Given the description of an element on the screen output the (x, y) to click on. 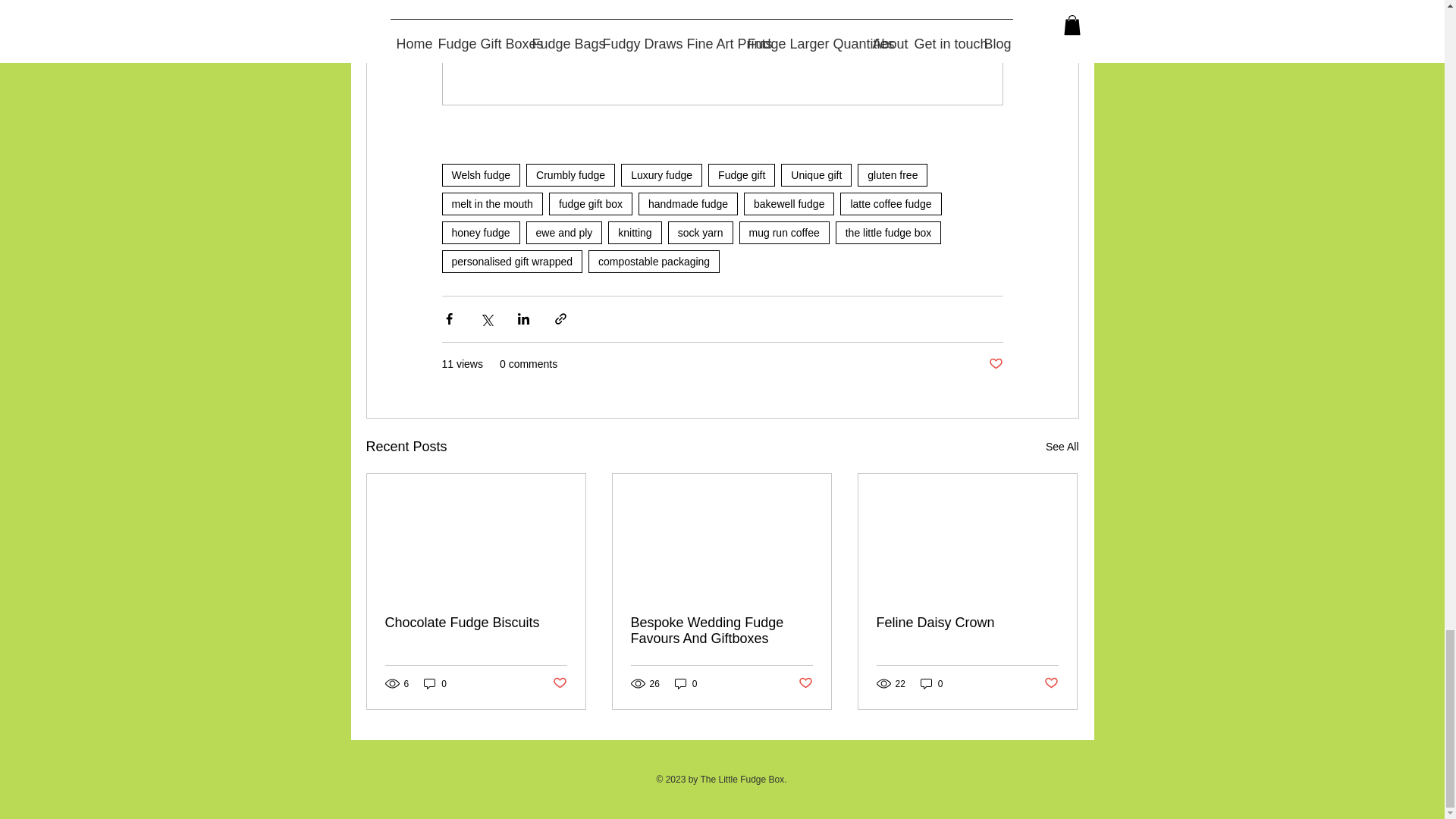
Crumbly fudge (569, 174)
Welsh fudge (480, 174)
Unique gift (815, 174)
Luxury fudge (661, 174)
Facebook Like (966, 779)
Fudge gift (740, 174)
